Given the description of an element on the screen output the (x, y) to click on. 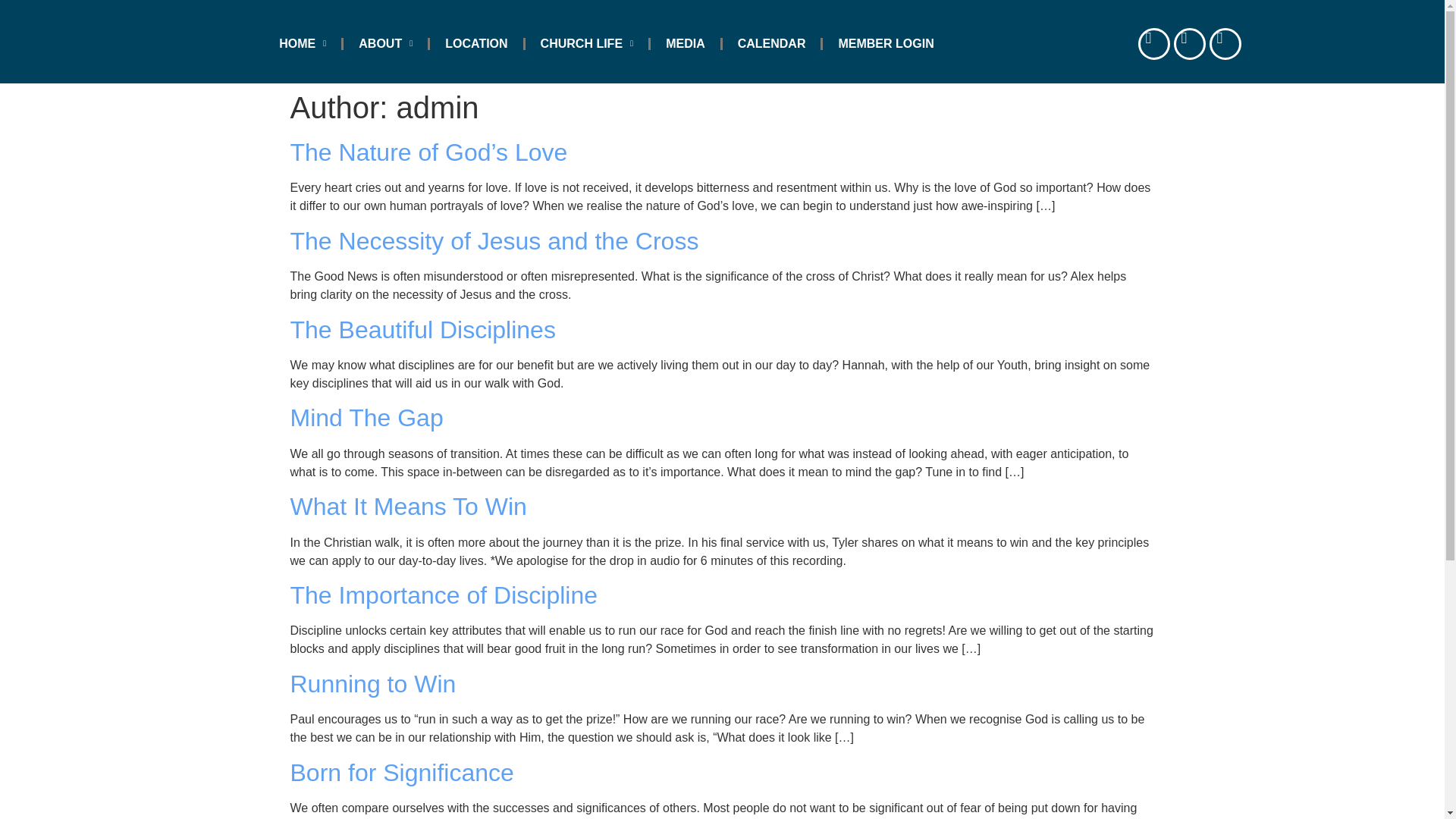
MEMBER LOGIN (885, 43)
ABOUT (385, 43)
CHURCH LIFE (587, 43)
CALENDAR (771, 43)
LOCATION (475, 43)
HOME (301, 43)
MEDIA (685, 43)
